Given the description of an element on the screen output the (x, y) to click on. 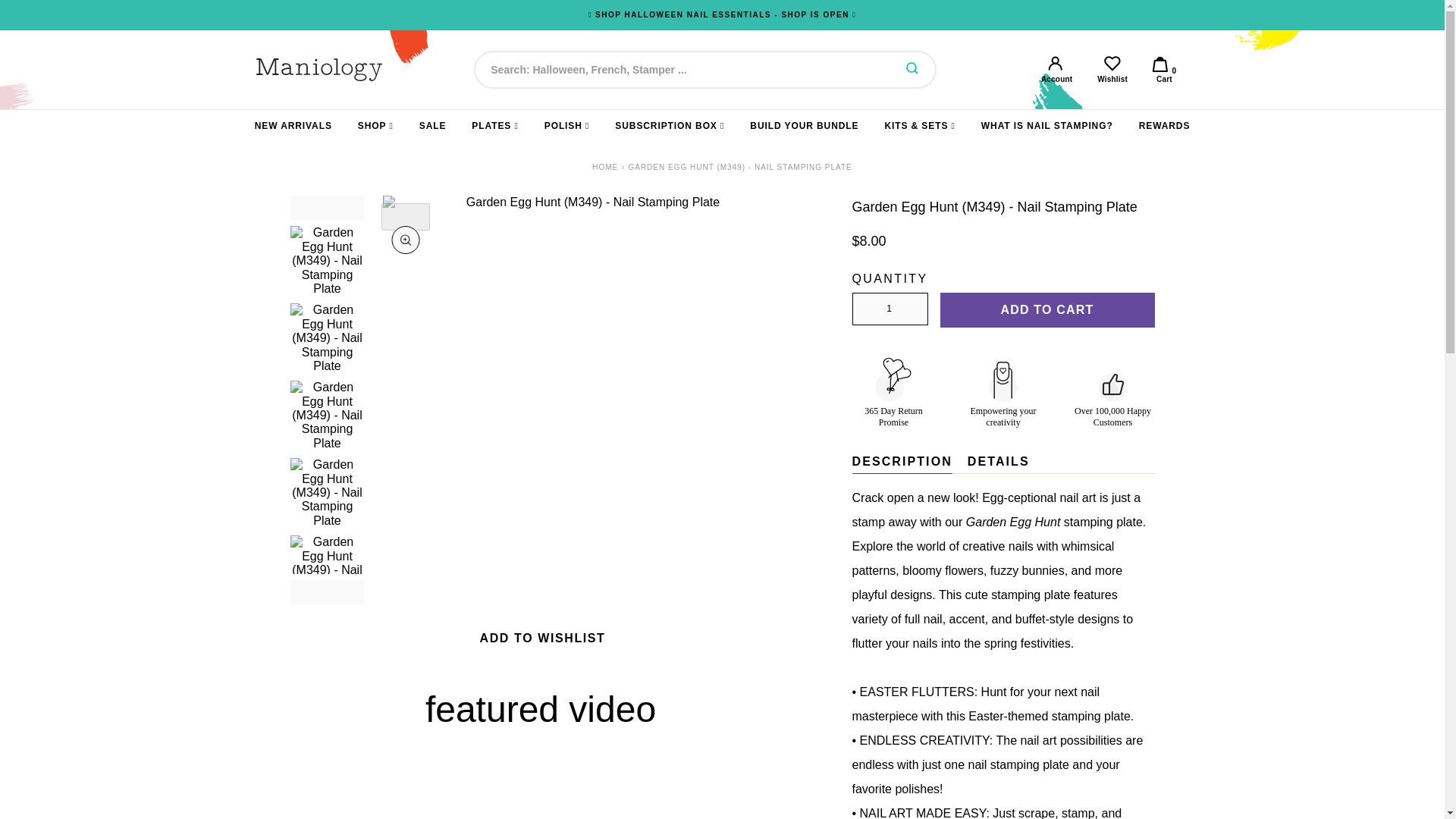
1 (889, 308)
NEW ARRIVALS (293, 126)
Login (1056, 70)
SEARCH (912, 69)
Wishlist (1163, 70)
Wishlist (1113, 70)
Home (1113, 70)
SHOP (604, 166)
Account (375, 126)
